Given the description of an element on the screen output the (x, y) to click on. 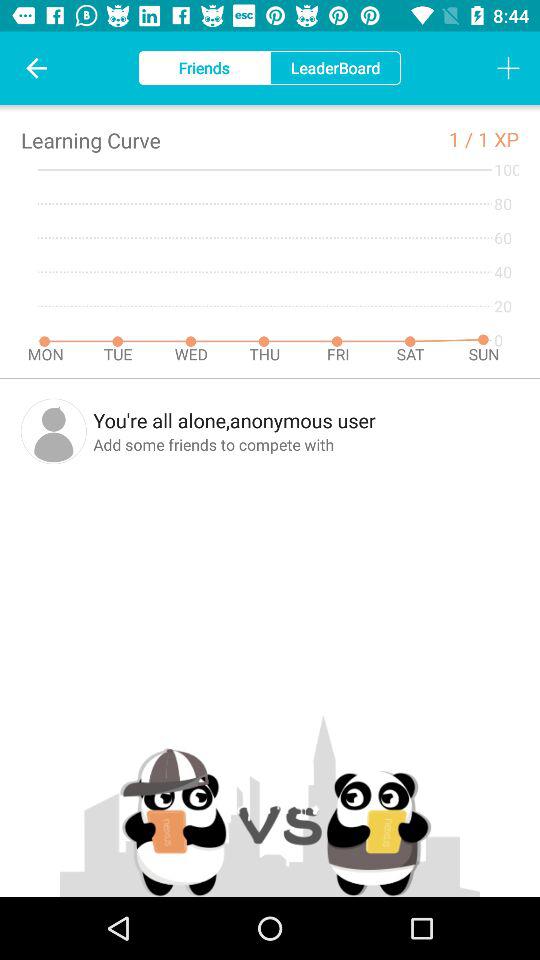
jump to the you re all icon (306, 420)
